Given the description of an element on the screen output the (x, y) to click on. 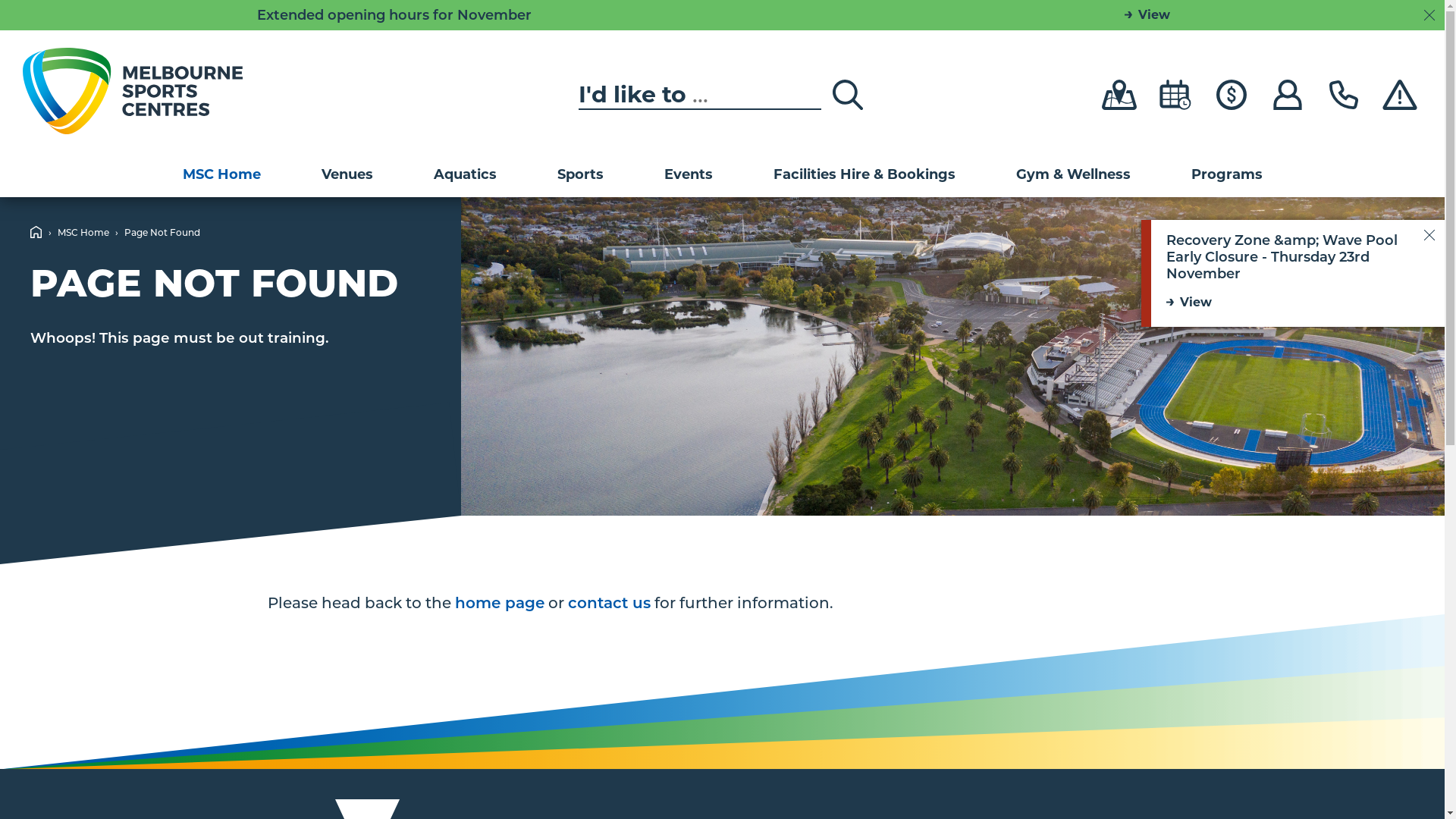
Programs Element type: text (1226, 174)
Home Element type: text (36, 231)
contact us Element type: text (608, 602)
Sports Element type: text (579, 174)
MSC Home Element type: text (220, 174)
Aquatics Element type: text (465, 174)
Melbourne Sports Centres Element type: text (132, 90)
View Element type: text (1290, 302)
home page Element type: text (499, 602)
Venues Element type: text (347, 174)
Close Element type: text (1429, 234)
View Element type: text (1146, 15)
Gym & Wellness Element type: text (1073, 174)
Facilities Hire & Bookings Element type: text (864, 174)
MSC Home Element type: text (83, 232)
Close Element type: text (1429, 15)
Events Element type: text (688, 174)
